Given the description of an element on the screen output the (x, y) to click on. 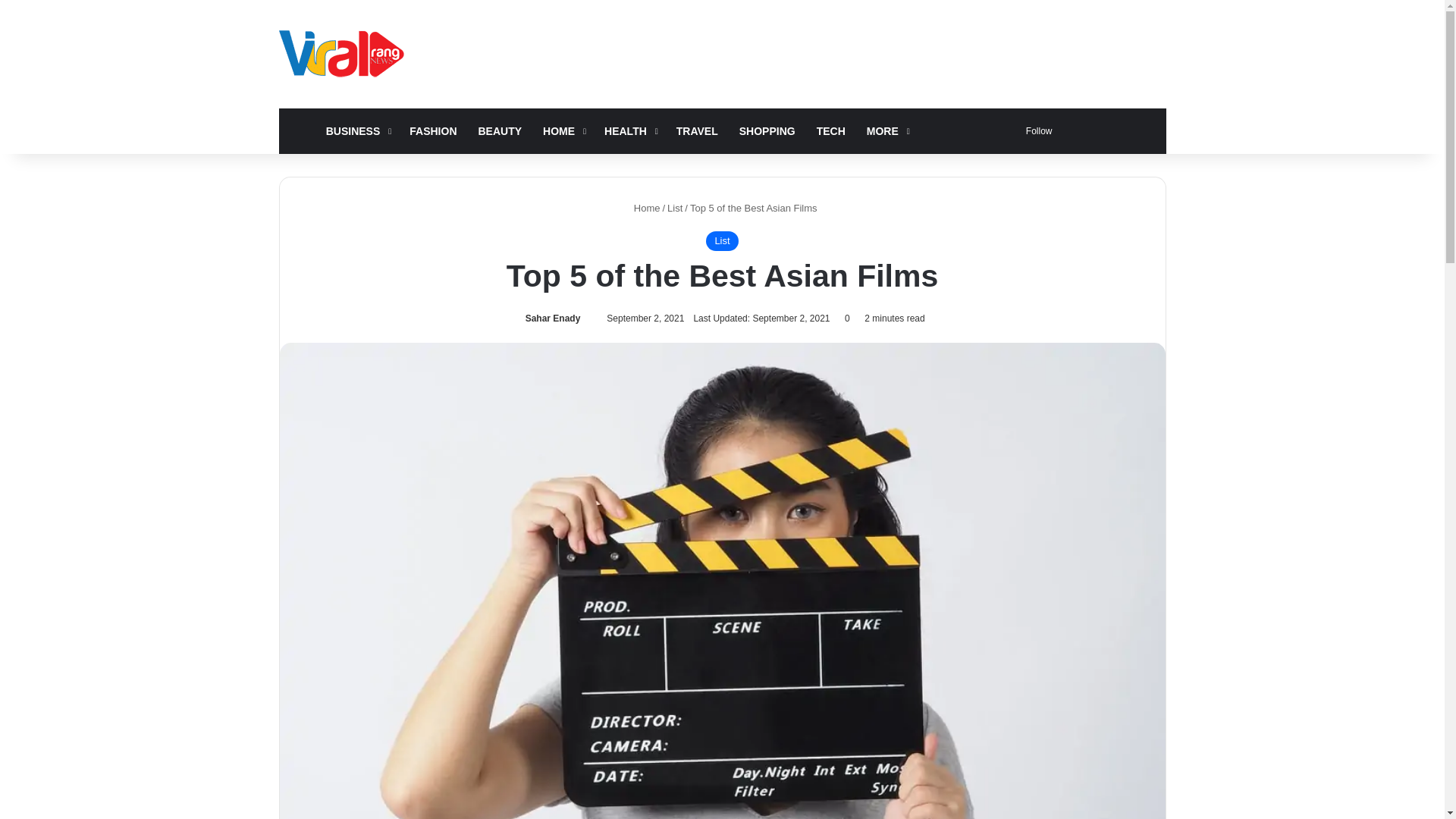
FASHION (432, 130)
HOME (297, 130)
TRAVEL (697, 130)
HEALTH (629, 130)
Follow (1035, 130)
BUSINESS (356, 130)
HOME (563, 130)
Switch skin (1119, 130)
Random Article (1074, 130)
Viral Rang (344, 53)
SHOPPING (767, 130)
BEAUTY (499, 130)
TECH (831, 130)
MORE (886, 130)
